Given the description of an element on the screen output the (x, y) to click on. 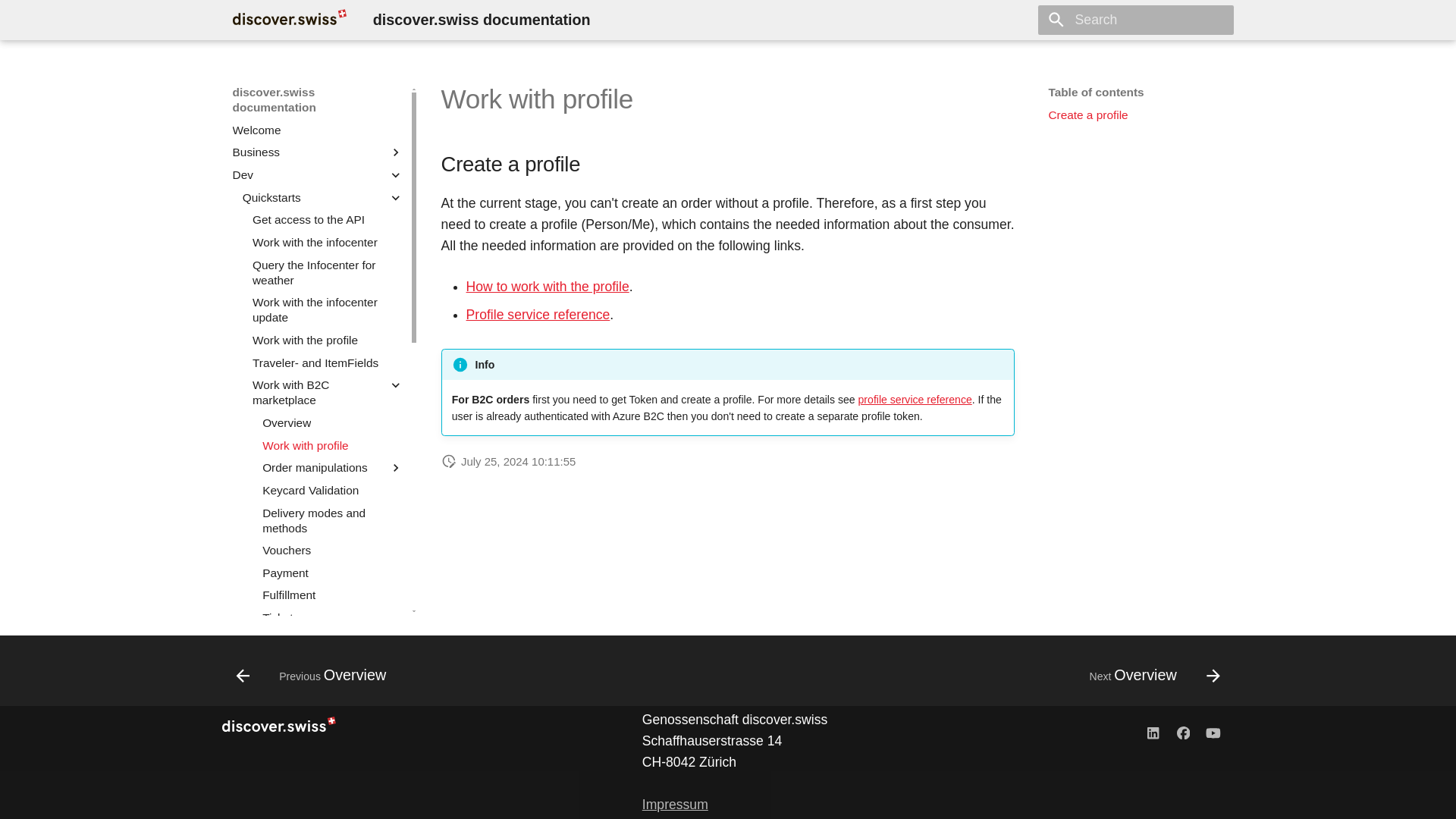
discover.swiss documentation (1135, 350)
Traveler- and ItemFields (289, 19)
Work with profile (327, 363)
Dev (332, 445)
Query the Infocenter for weather (306, 174)
www.facebook.com (327, 272)
Business (1183, 732)
www.linkedin.com (306, 151)
Work with the profile (1153, 732)
Work with the infocenter (327, 340)
Welcome (327, 242)
Get access to the API (317, 130)
www.youtube.com (327, 219)
Overview (1213, 732)
